Given the description of an element on the screen output the (x, y) to click on. 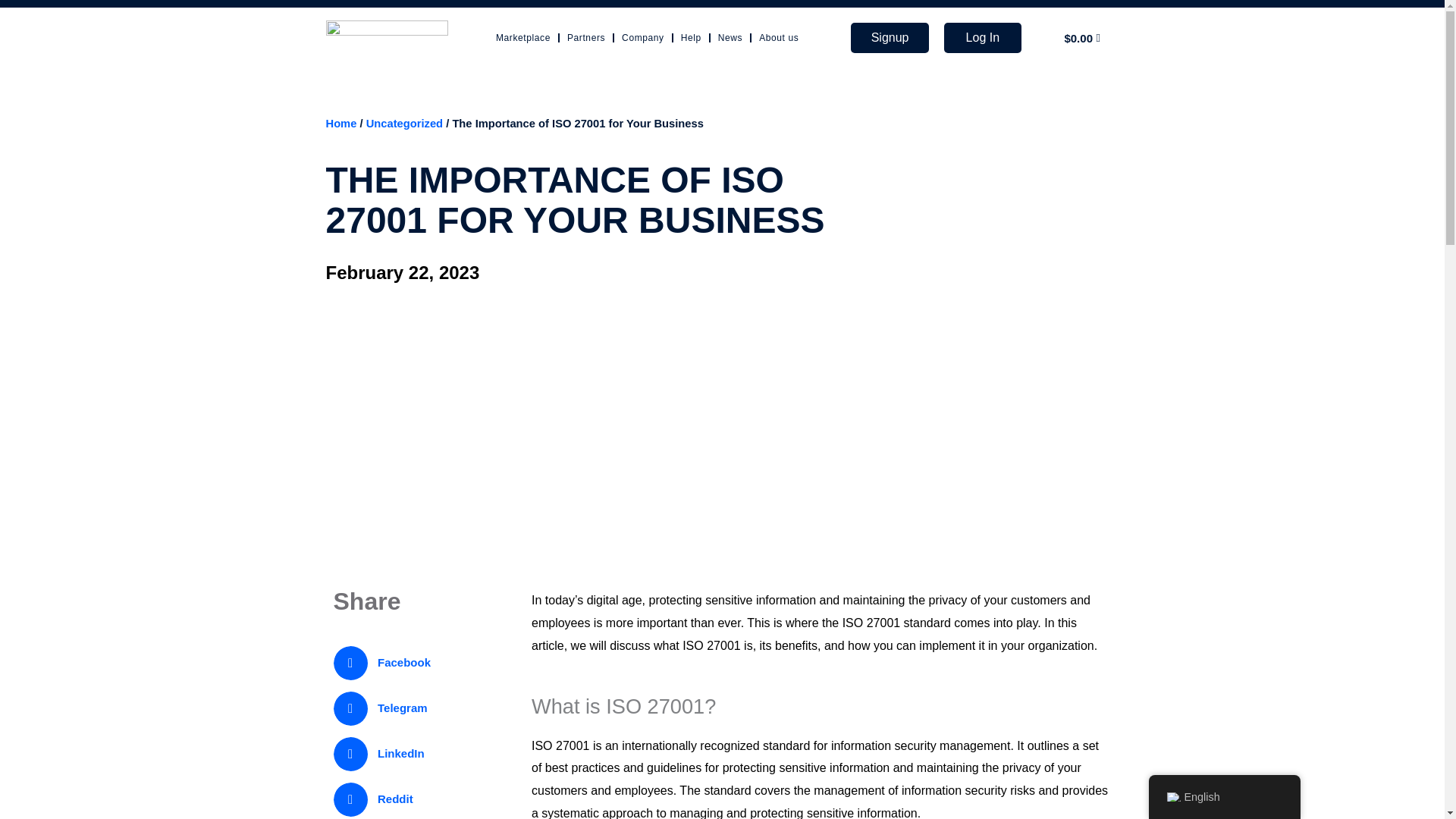
Help (691, 37)
Partners (586, 37)
Home (341, 123)
Company (642, 37)
Log In (982, 37)
Uncategorized (404, 123)
About us (777, 37)
English (1172, 796)
February 22, 2023 (403, 273)
Signup (889, 37)
